Given the description of an element on the screen output the (x, y) to click on. 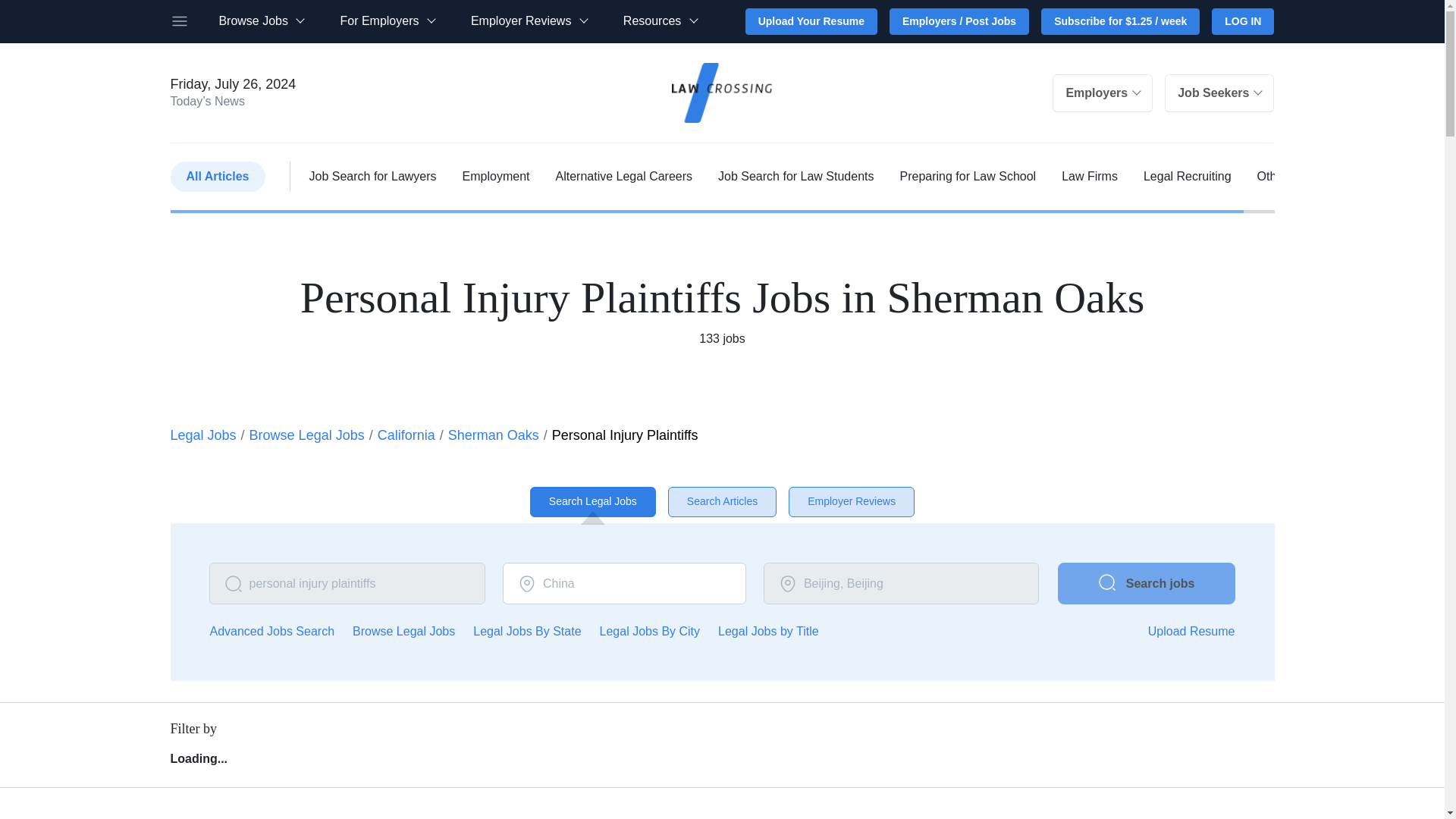
personal injury plaintiffs (346, 583)
LOG IN (1242, 22)
Job Seekers (1219, 93)
Browse Jobs (260, 20)
Beijing, Beijing (900, 583)
For Employers (386, 20)
Resources (660, 20)
Employer Reviews (528, 20)
Upload Your Resume (811, 22)
Employers (1102, 93)
